Given the description of an element on the screen output the (x, y) to click on. 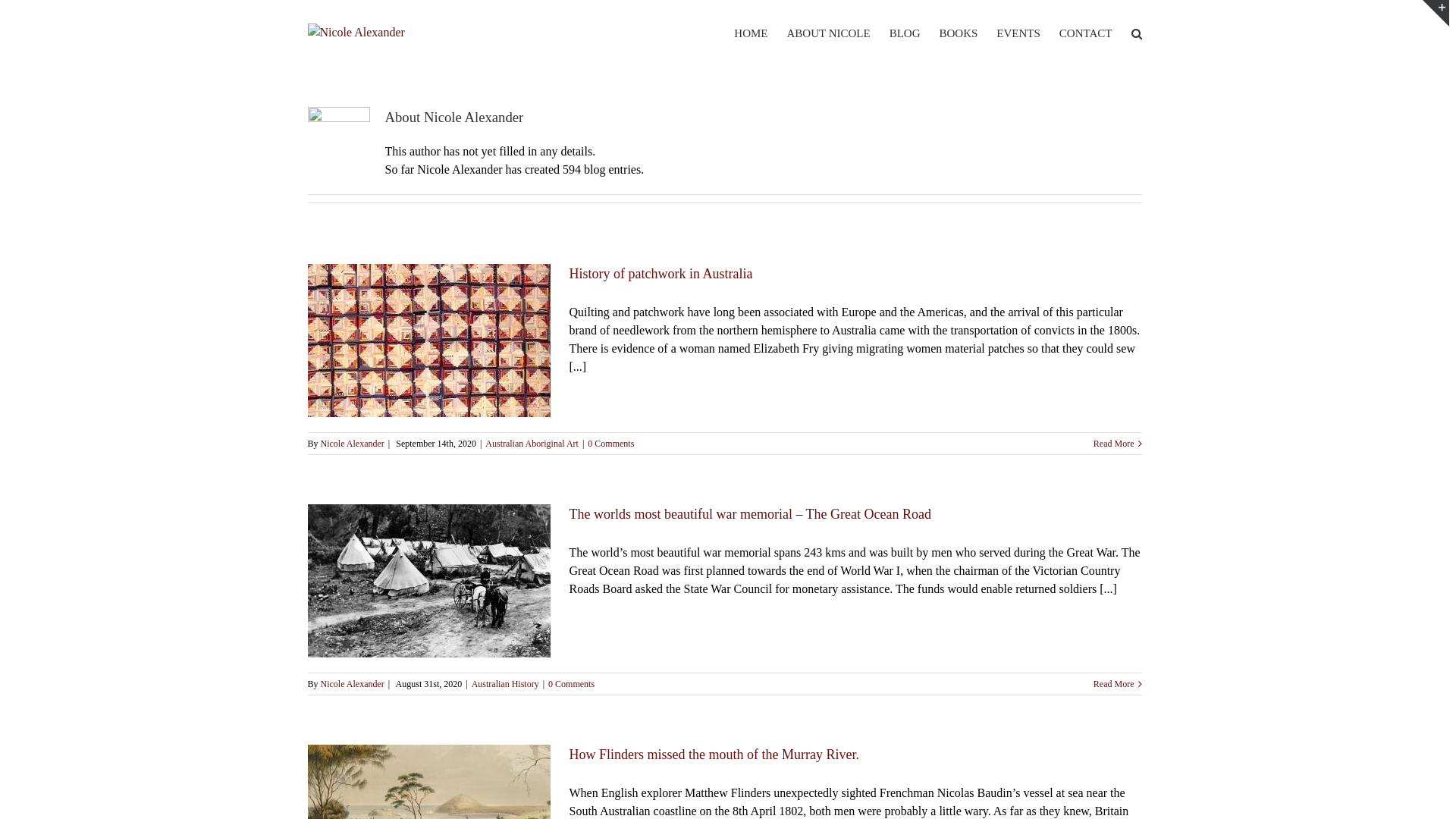
Nicole Alexander Element type: text (352, 683)
History of patchwork in Australia Element type: text (660, 273)
0 Comments Element type: text (610, 443)
Nicole Alexander Element type: text (352, 443)
BLOG Element type: text (904, 32)
Australian Aboriginal Art Element type: text (531, 443)
Read More Element type: text (1113, 443)
HOME Element type: text (750, 32)
ABOUT NICOLE Element type: text (828, 32)
How Flinders missed the mouth of the Murray River. Element type: text (713, 754)
0 Comments Element type: text (571, 683)
Read More Element type: text (1113, 683)
EVENTS Element type: text (1018, 32)
Australian History Element type: text (505, 683)
BOOKS Element type: text (957, 32)
CONTACT Element type: text (1085, 32)
